Given the description of an element on the screen output the (x, y) to click on. 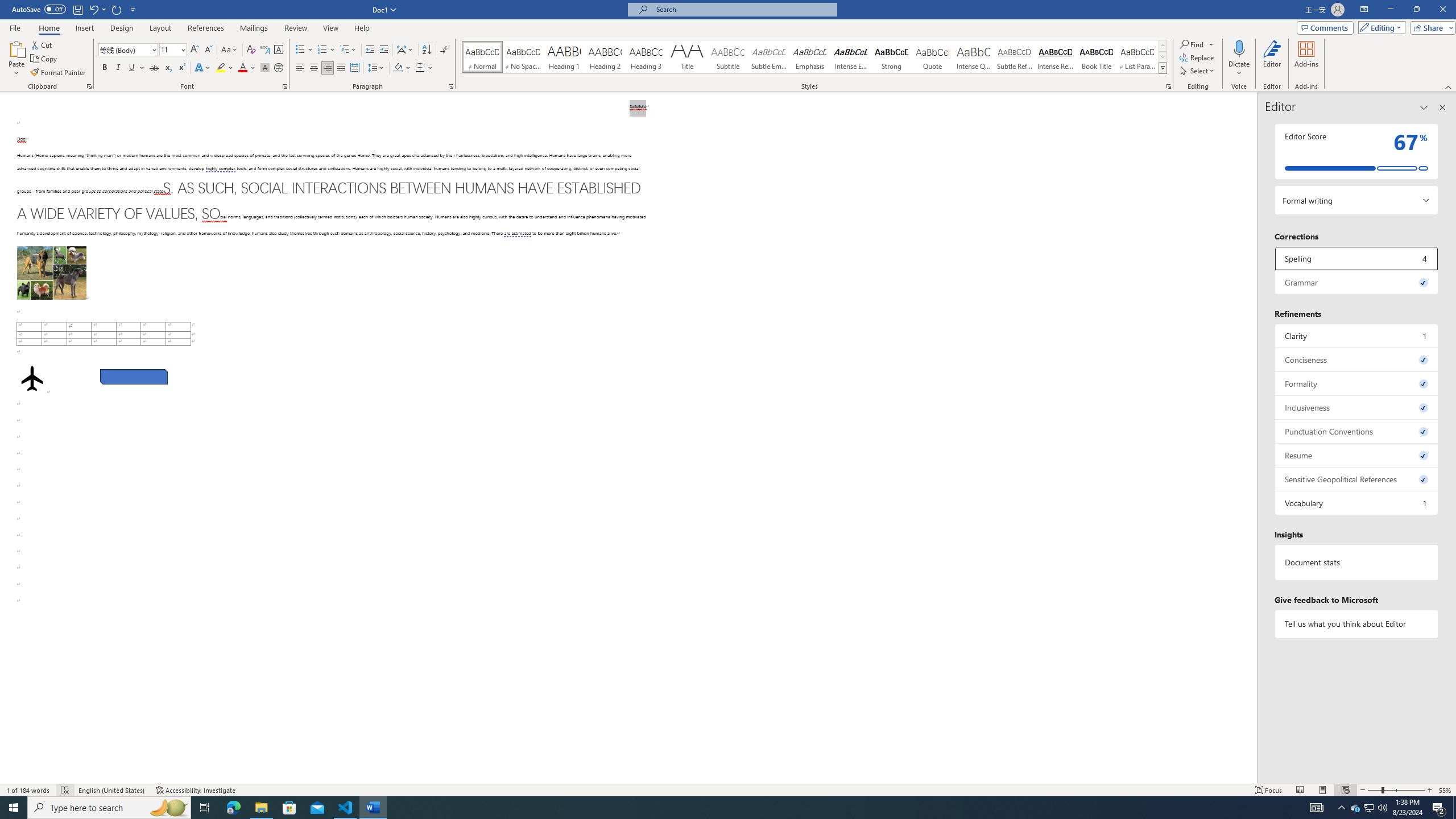
Font Color Red (241, 67)
Spelling and Grammar Check Errors (65, 790)
Undo Paragraph Alignment (96, 9)
Repeat Paragraph Alignment (117, 9)
Heading 3 (646, 56)
